Given the description of an element on the screen output the (x, y) to click on. 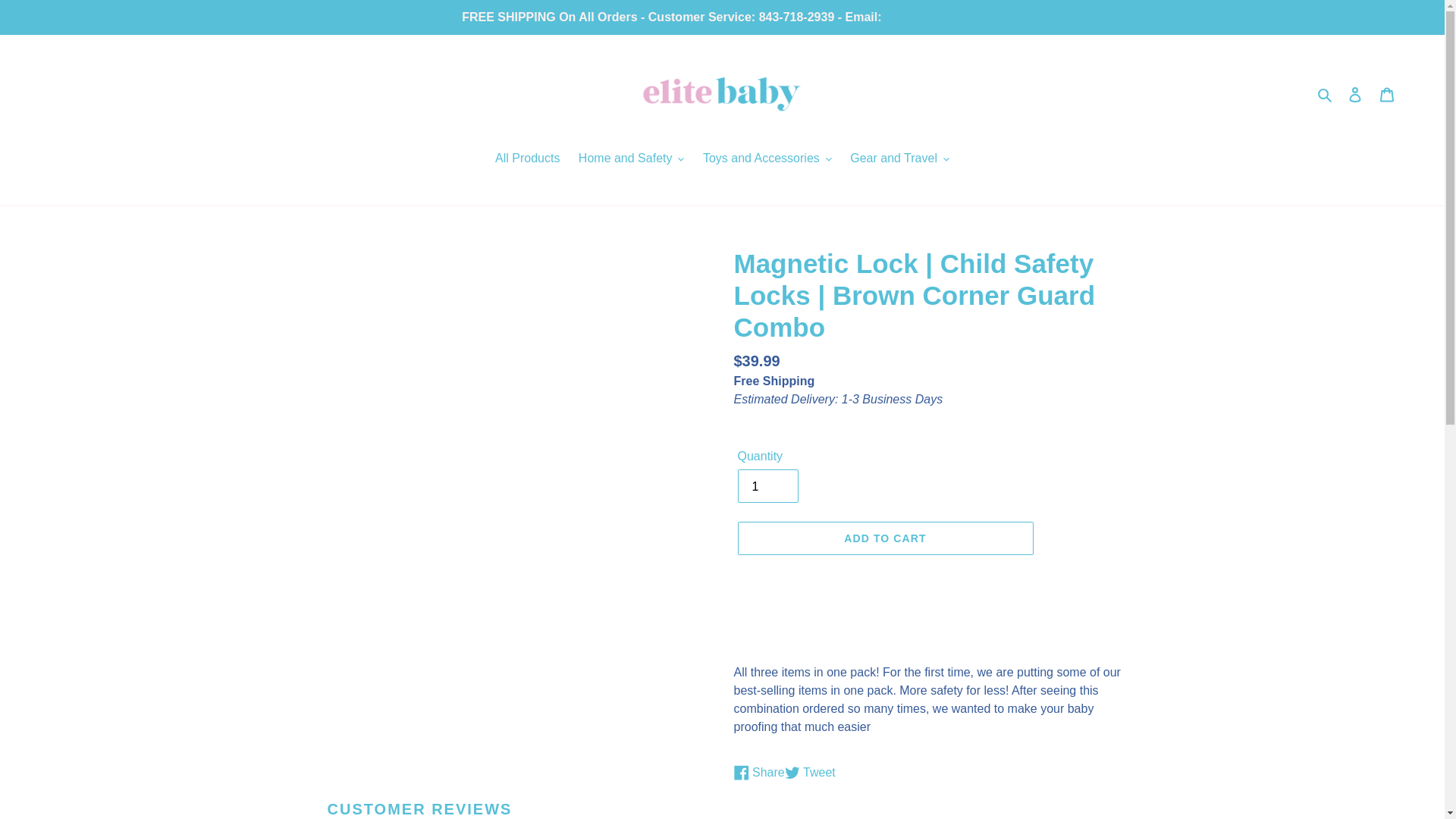
1 (766, 485)
Cart (1387, 93)
Log in (1355, 93)
Search (1326, 94)
